Given the description of an element on the screen output the (x, y) to click on. 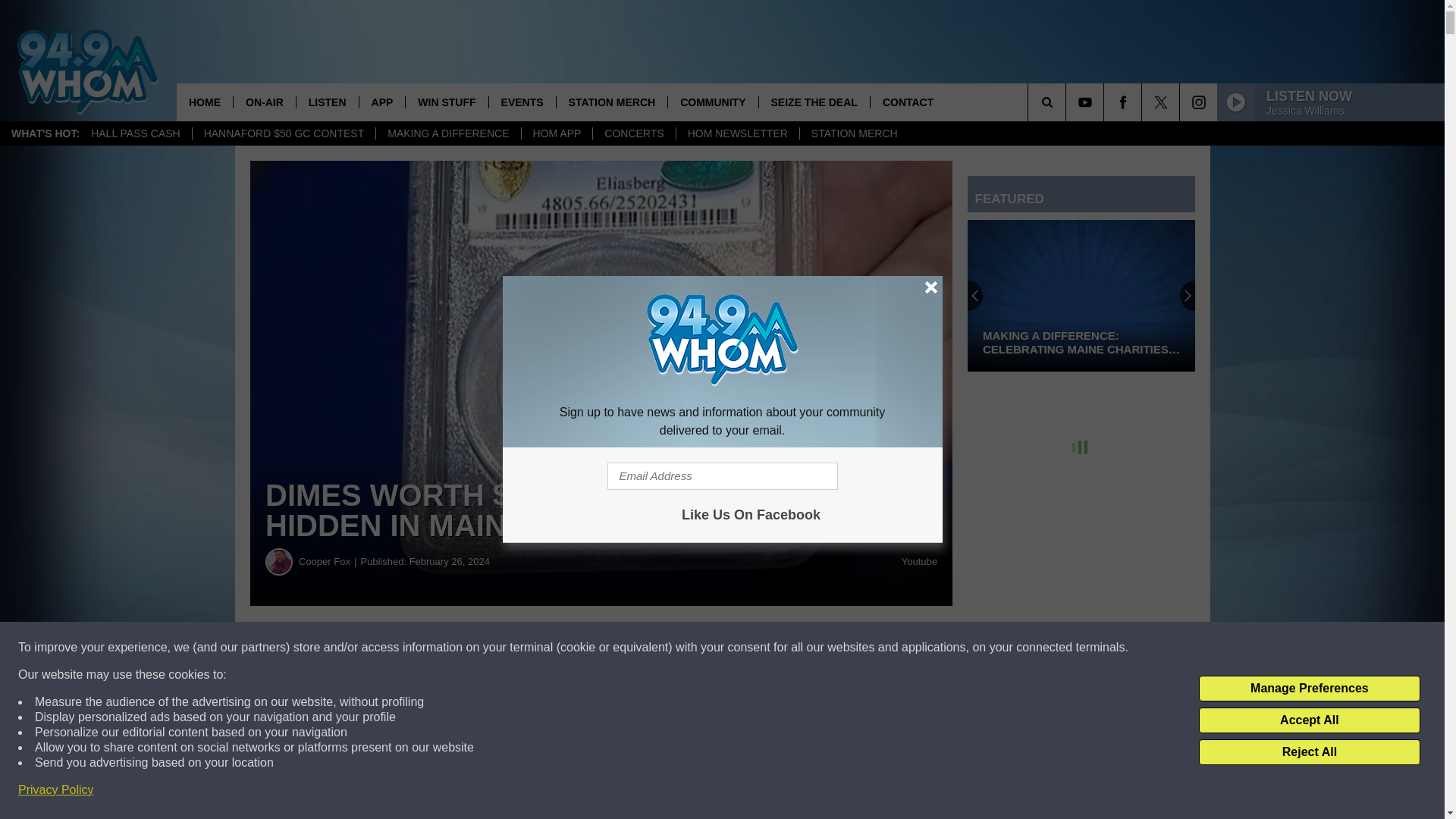
APP (382, 102)
LISTEN (326, 102)
CONCERTS (633, 133)
WIN STUFF (445, 102)
SEARCH (1068, 102)
HALL PASS CASH (136, 133)
Share on Facebook (460, 647)
SEARCH (1068, 102)
Reject All (1309, 751)
Privacy Policy (55, 789)
STATION MERCH (853, 133)
MAKING A DIFFERENCE (447, 133)
ON-AIR (263, 102)
HOM NEWSLETTER (737, 133)
Accept All (1309, 720)
